Given the description of an element on the screen output the (x, y) to click on. 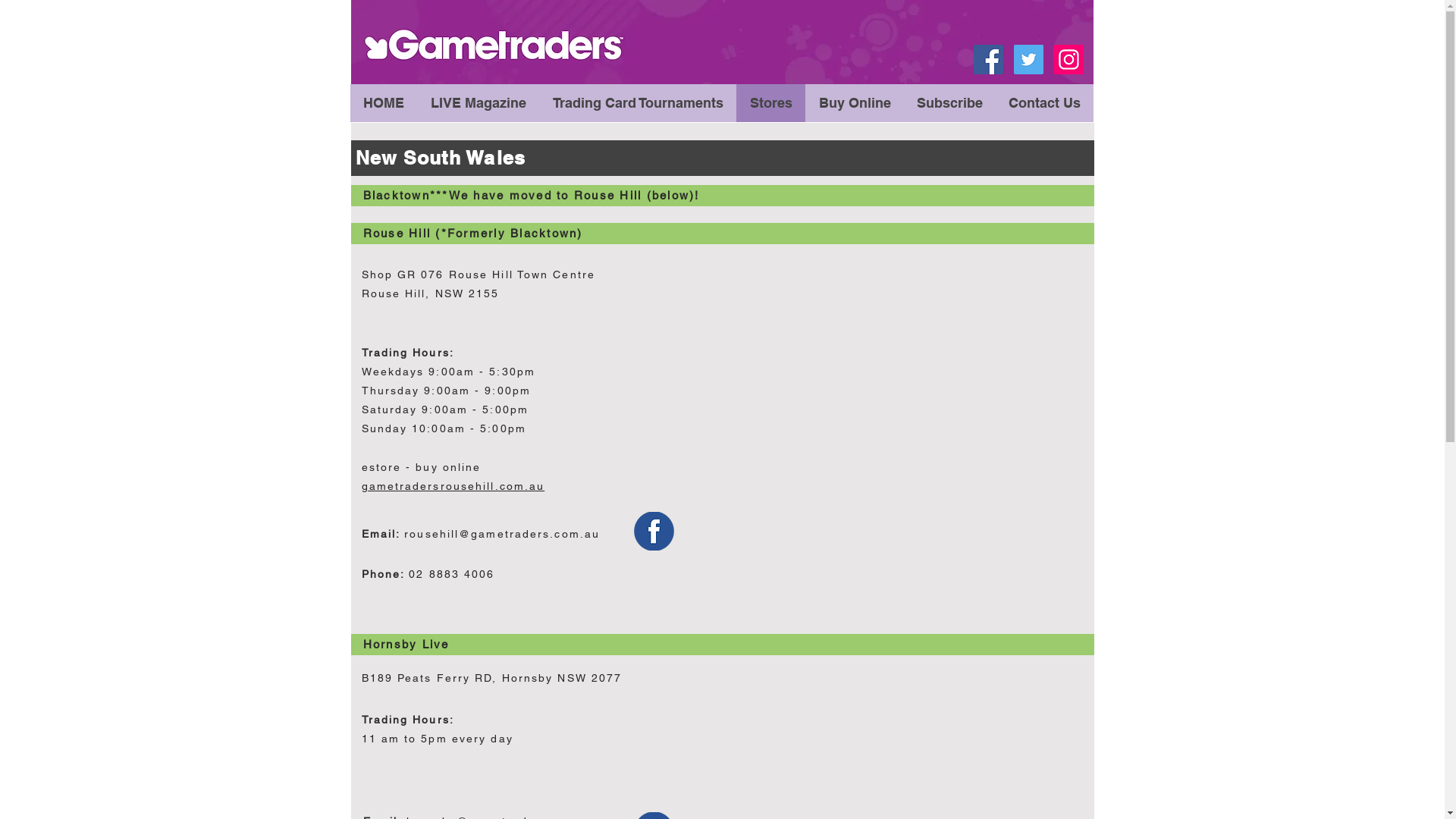
Blacktown***We have moved to Rouse Hill (below)! Element type: text (530, 194)
Subscribe Element type: text (949, 103)
Stores Element type: text (769, 103)
02 8883 4006 Element type: text (451, 573)
Google Maps Element type: hover (879, 401)
Email: rousehill@gametraders.com.au Element type: text (479, 533)
Contact Us Element type: text (1043, 103)
New South Wales Element type: text (439, 157)
gametradersrousehill.com.au Element type: text (452, 486)
LIVE Magazine Element type: text (478, 103)
HOME Element type: text (383, 103)
Trading Card Tournaments Element type: text (636, 103)
Hornsby Live Element type: text (405, 643)
Rouse Hill (*Formerly Blacktown) Element type: text (472, 232)
